Given the description of an element on the screen output the (x, y) to click on. 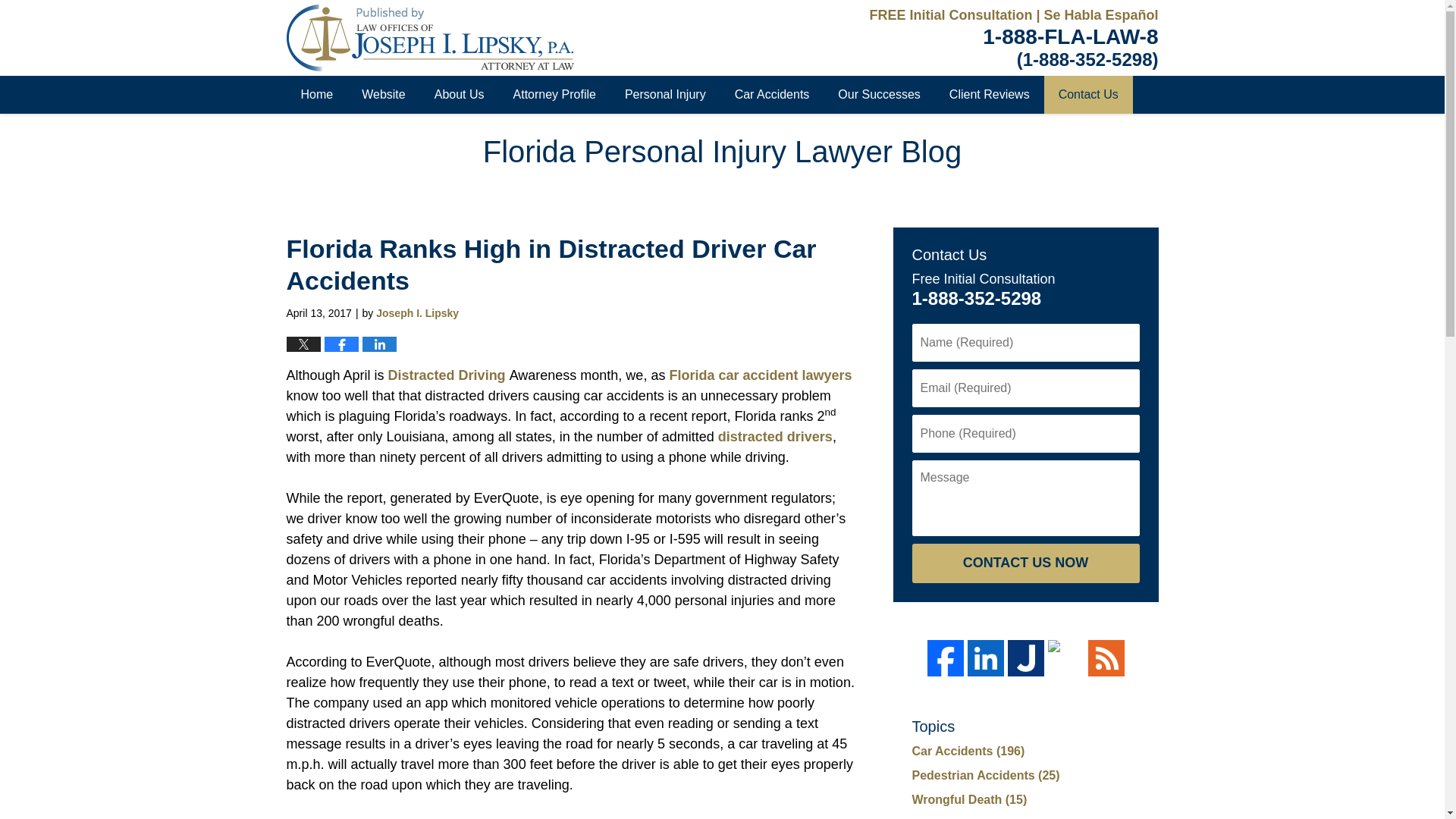
Car Accidents (772, 94)
Facebook (944, 657)
CONTACT US NOW (1024, 563)
Distracted Driving (448, 375)
Personal Injury (665, 94)
Attorney Profile (554, 94)
Our Successes (879, 94)
Joseph I. Lipsky (416, 313)
Contact Us (1087, 94)
FREE Initial Consultation (952, 14)
distracted drivers (774, 436)
Feed (1105, 657)
Yelp (1066, 657)
Website (383, 94)
Home (316, 94)
